Given the description of an element on the screen output the (x, y) to click on. 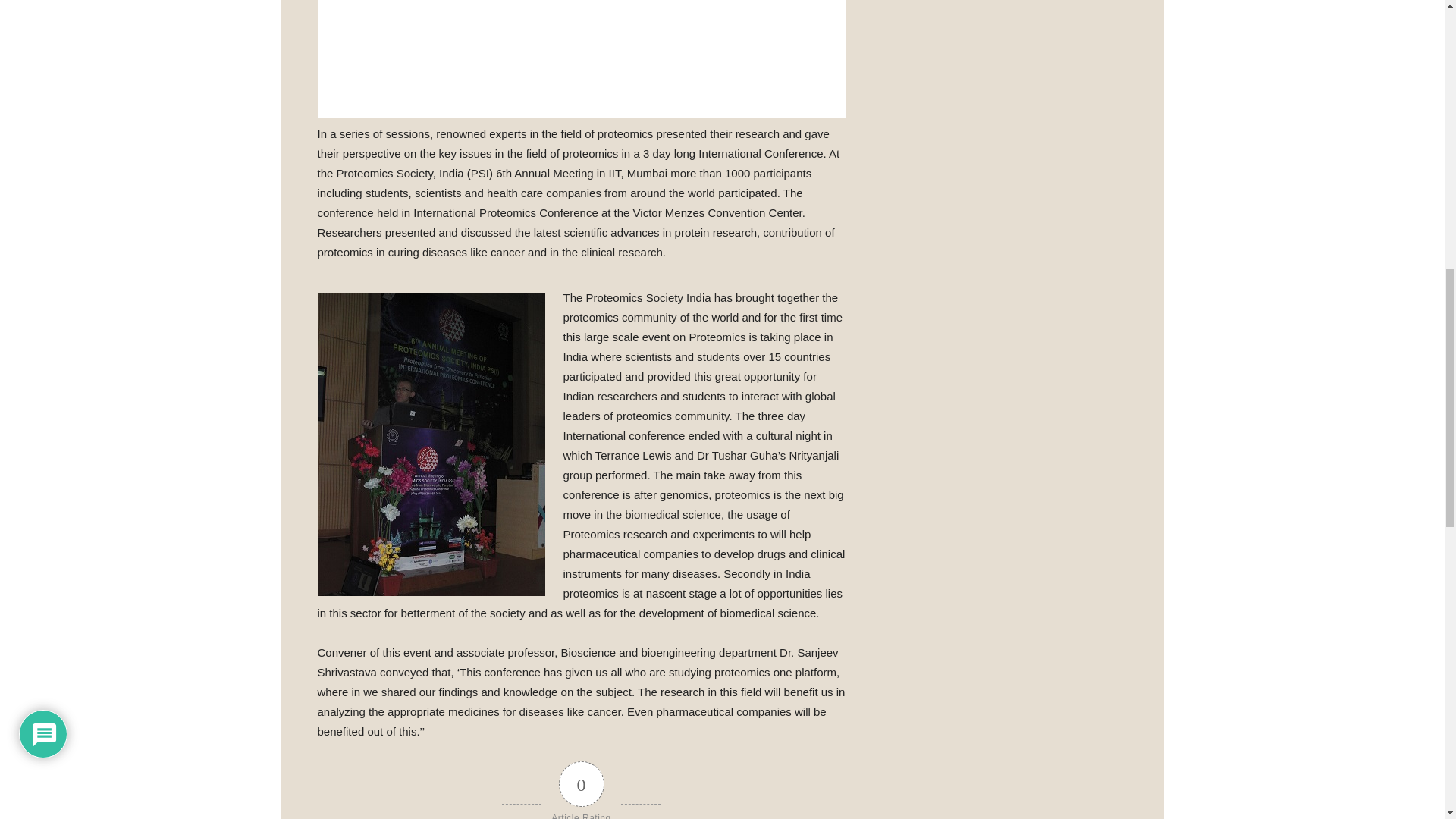
Advertisement (580, 58)
